Given the description of an element on the screen output the (x, y) to click on. 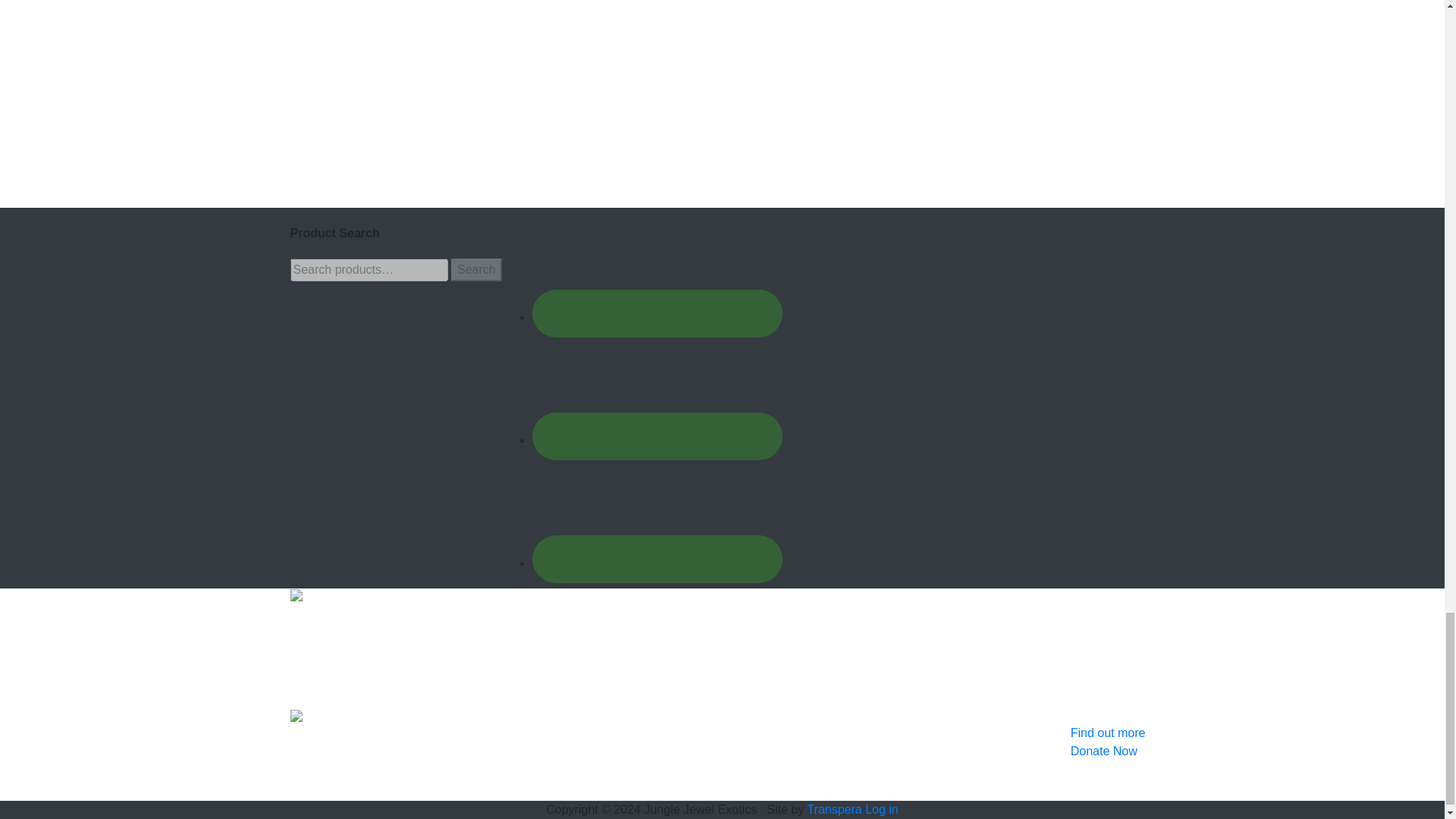
YouTube (657, 510)
Facebook (657, 264)
Twitter (657, 387)
